Given the description of an element on the screen output the (x, y) to click on. 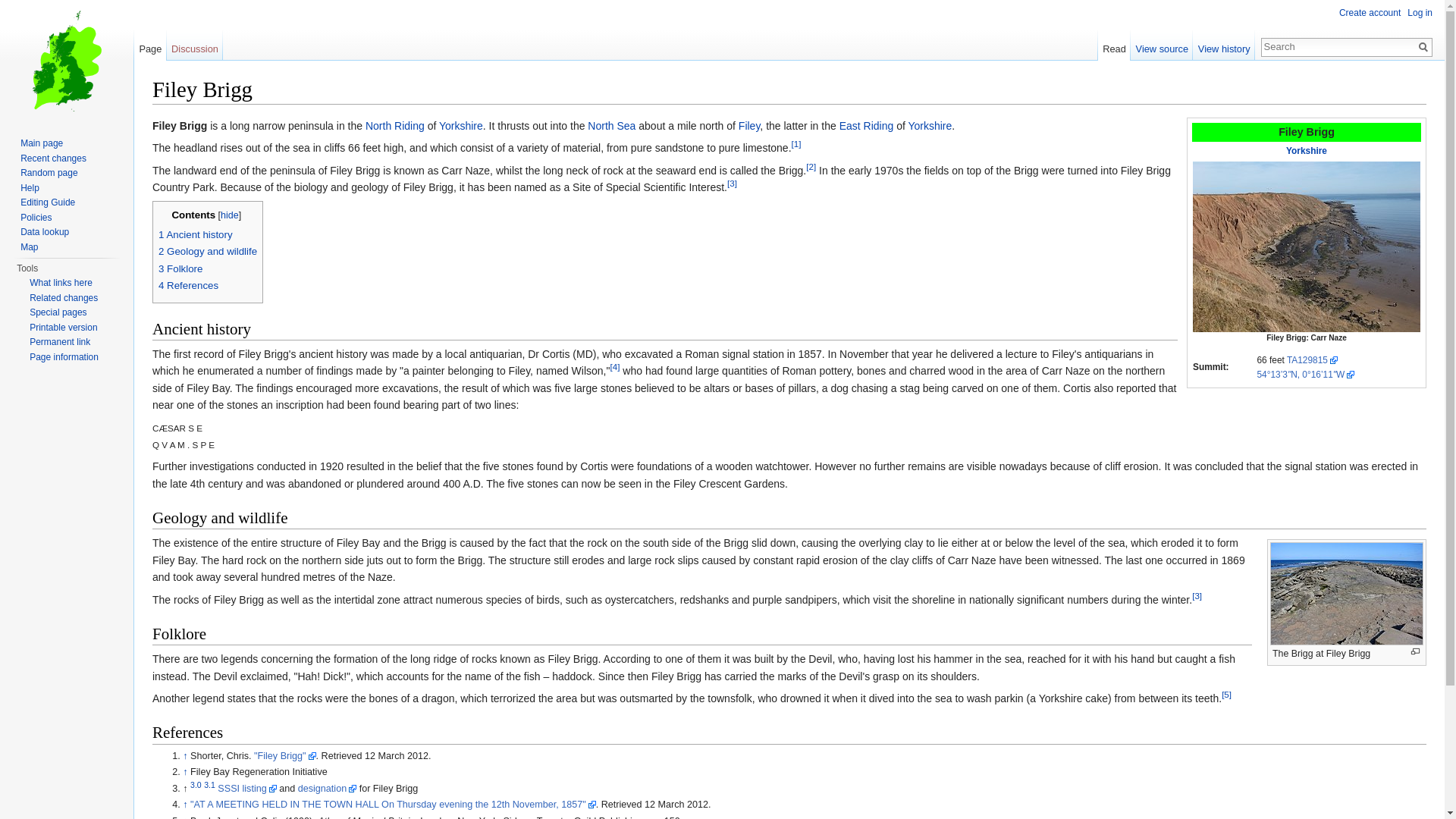
North Riding (395, 125)
Go (1423, 46)
East Riding (866, 125)
3 Folklore (180, 268)
4 References (188, 285)
SSSI listing (246, 787)
Yorkshire (1305, 150)
Yorkshire (929, 125)
Yorkshire (929, 125)
